Given the description of an element on the screen output the (x, y) to click on. 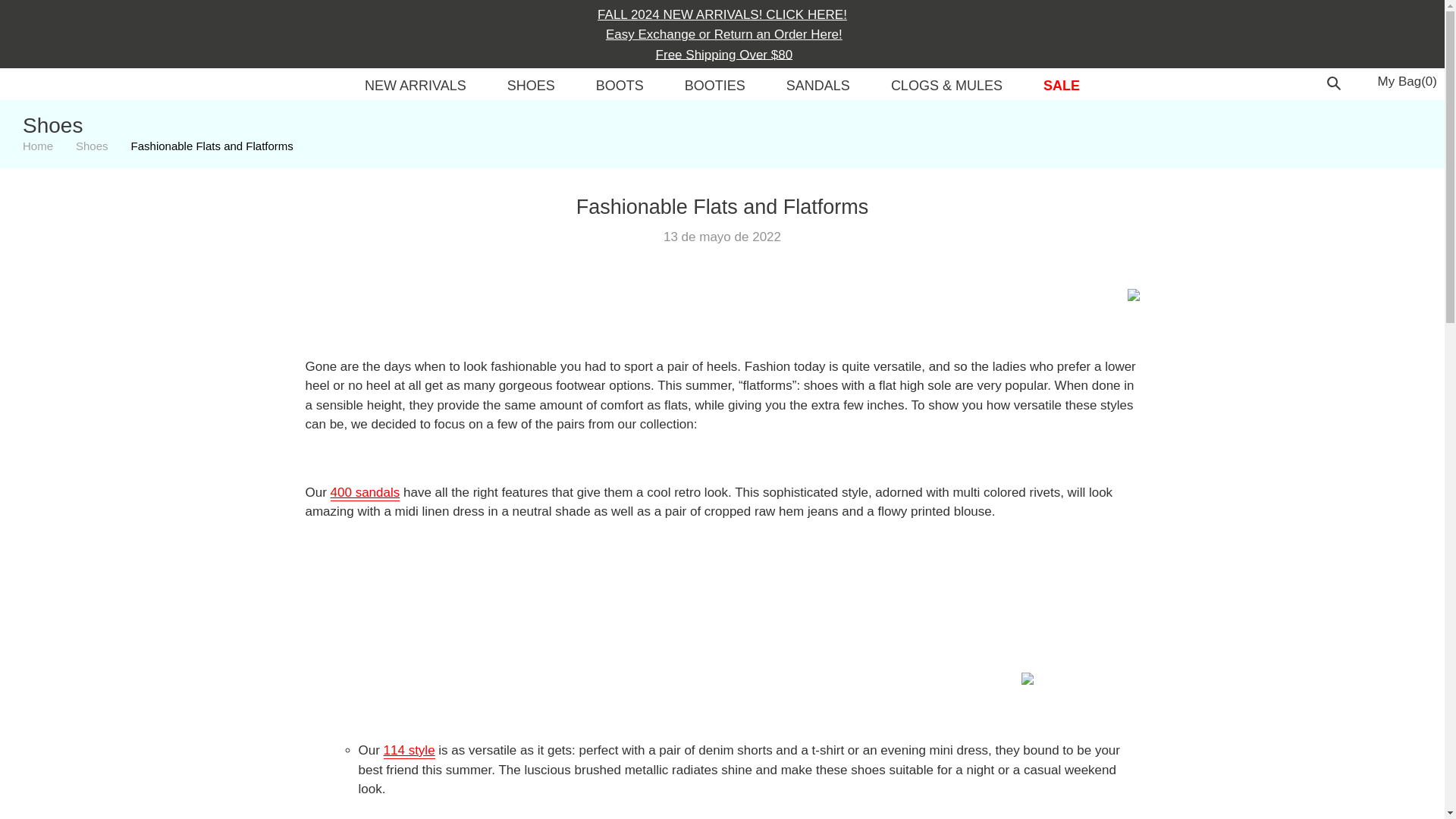
SANDALS (817, 87)
Easy Exchange or Return an Order Here! (722, 33)
NEW ARRIVALS (414, 87)
Buscar (1336, 81)
Home (37, 145)
FALL 2024 NEW ARRIVALS! CLICK HERE! (721, 13)
BOOTS (619, 87)
SALE (1061, 87)
SHOES (530, 87)
Shoes (91, 145)
